Given the description of an element on the screen output the (x, y) to click on. 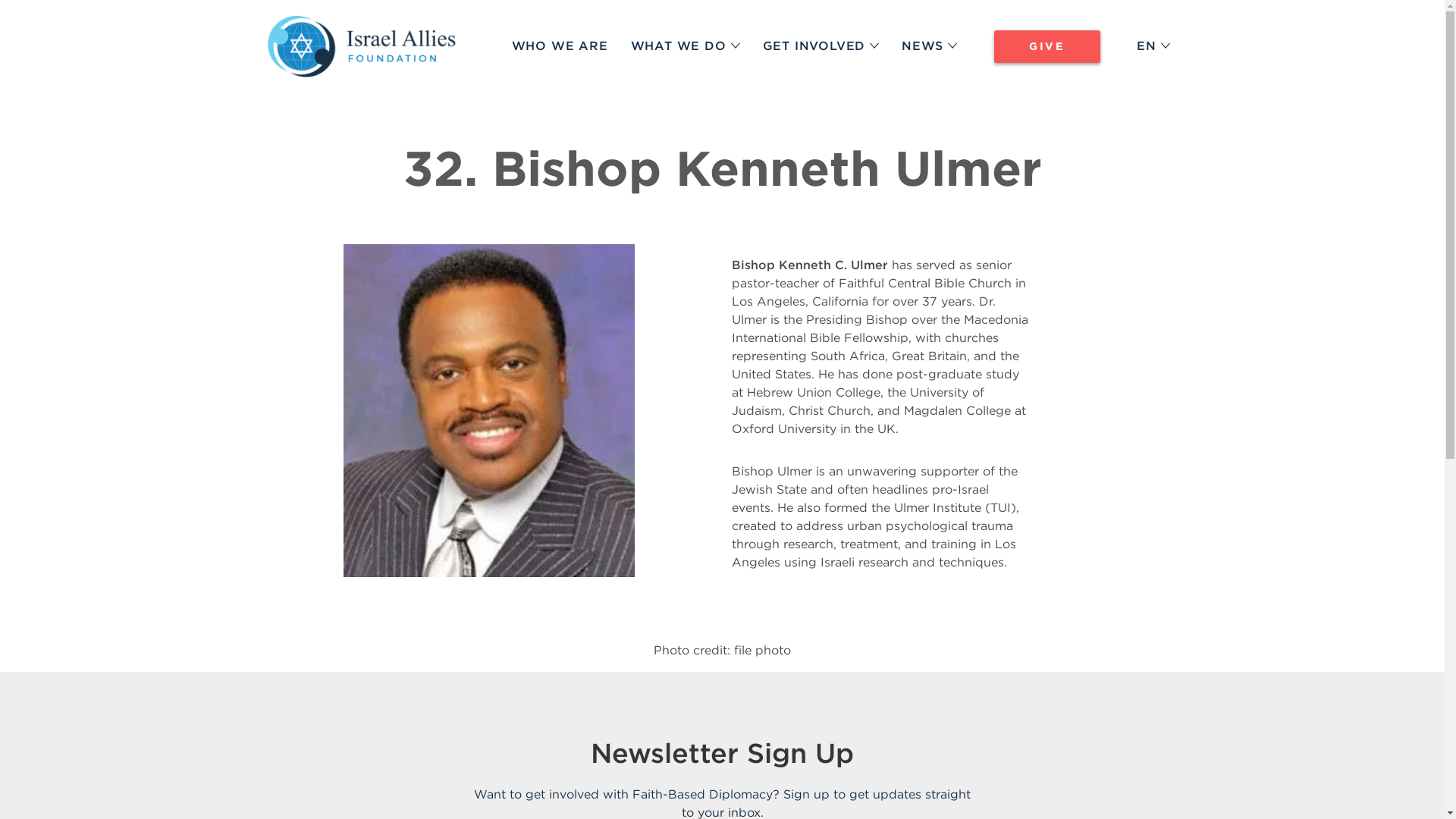
WHO WE ARE (559, 46)
NEWS (928, 46)
WHAT WE DO (685, 46)
GET INVOLVED (820, 46)
